Given the description of an element on the screen output the (x, y) to click on. 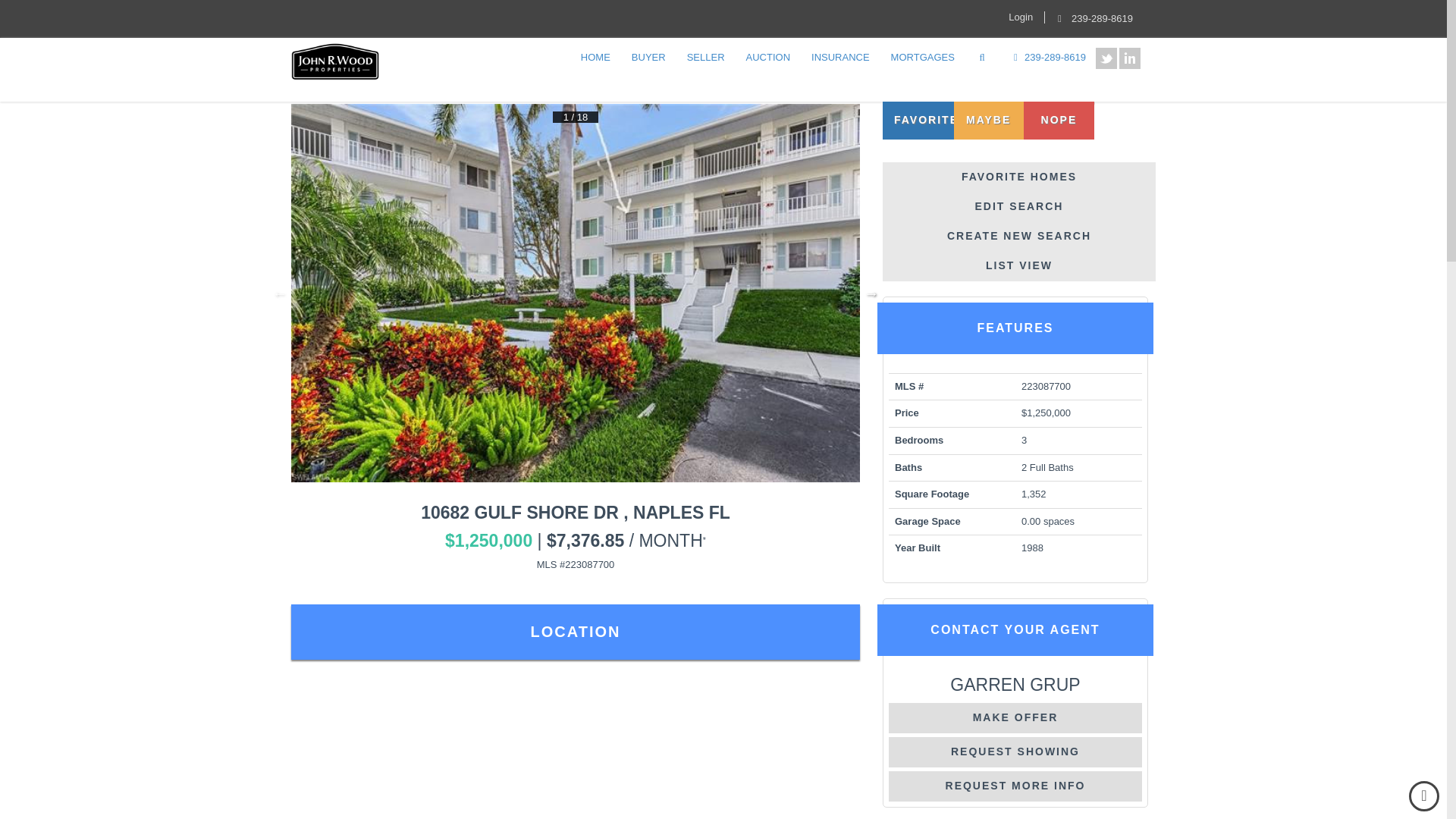
239-289-8619 (1047, 57)
INSURANCE (839, 57)
Previous (279, 292)
BUYER (648, 57)
Login (1020, 16)
AUCTION (768, 57)
HOME (595, 57)
SELLER (705, 57)
239-289-8619 (1092, 18)
MORTGAGES (922, 57)
